Given the description of an element on the screen output the (x, y) to click on. 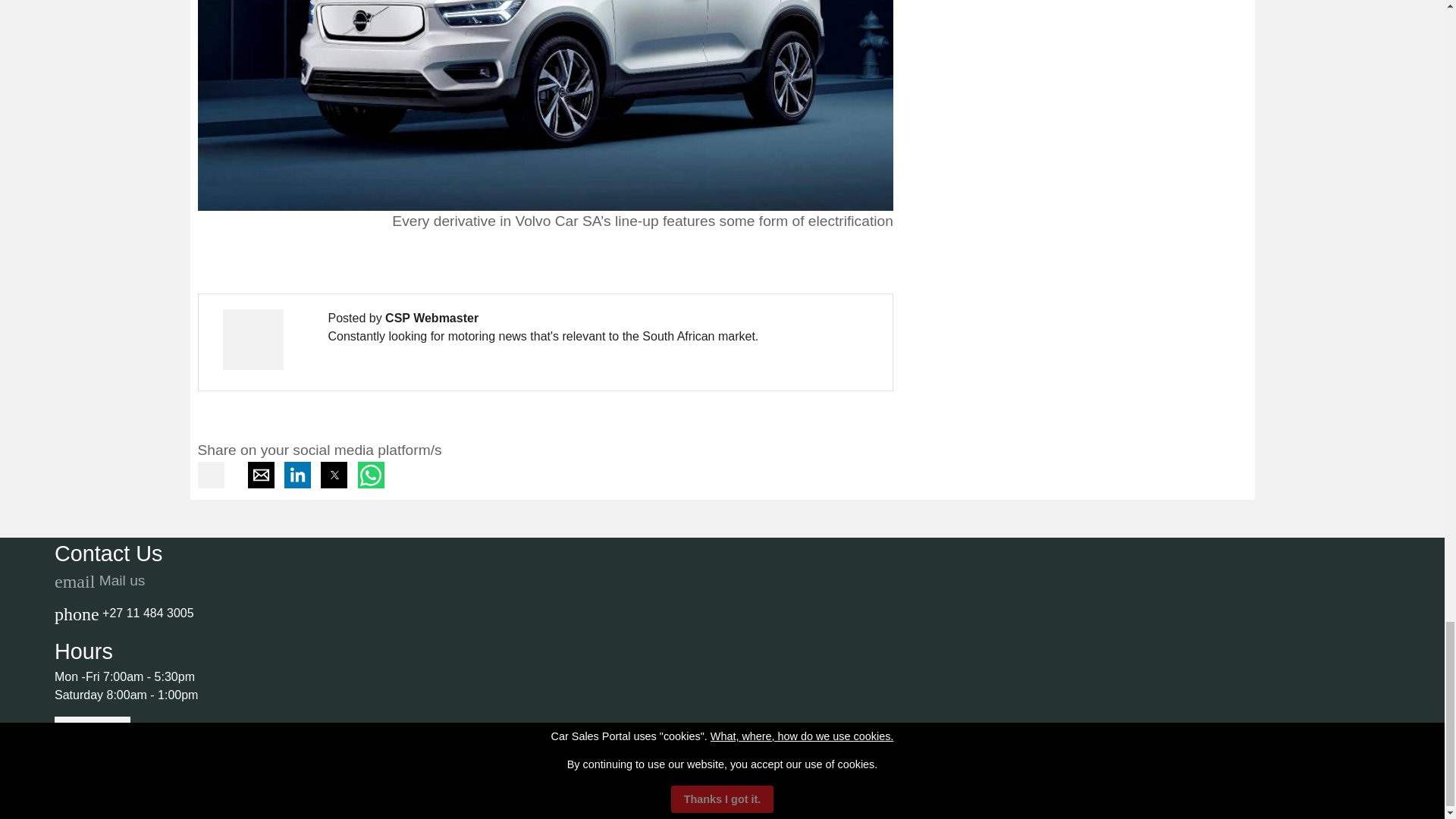
Contact Car Sales Portal via email (99, 580)
Share page on Facebook (211, 483)
email Mail us (99, 580)
Car Sales Portal (130, 807)
